Given the description of an element on the screen output the (x, y) to click on. 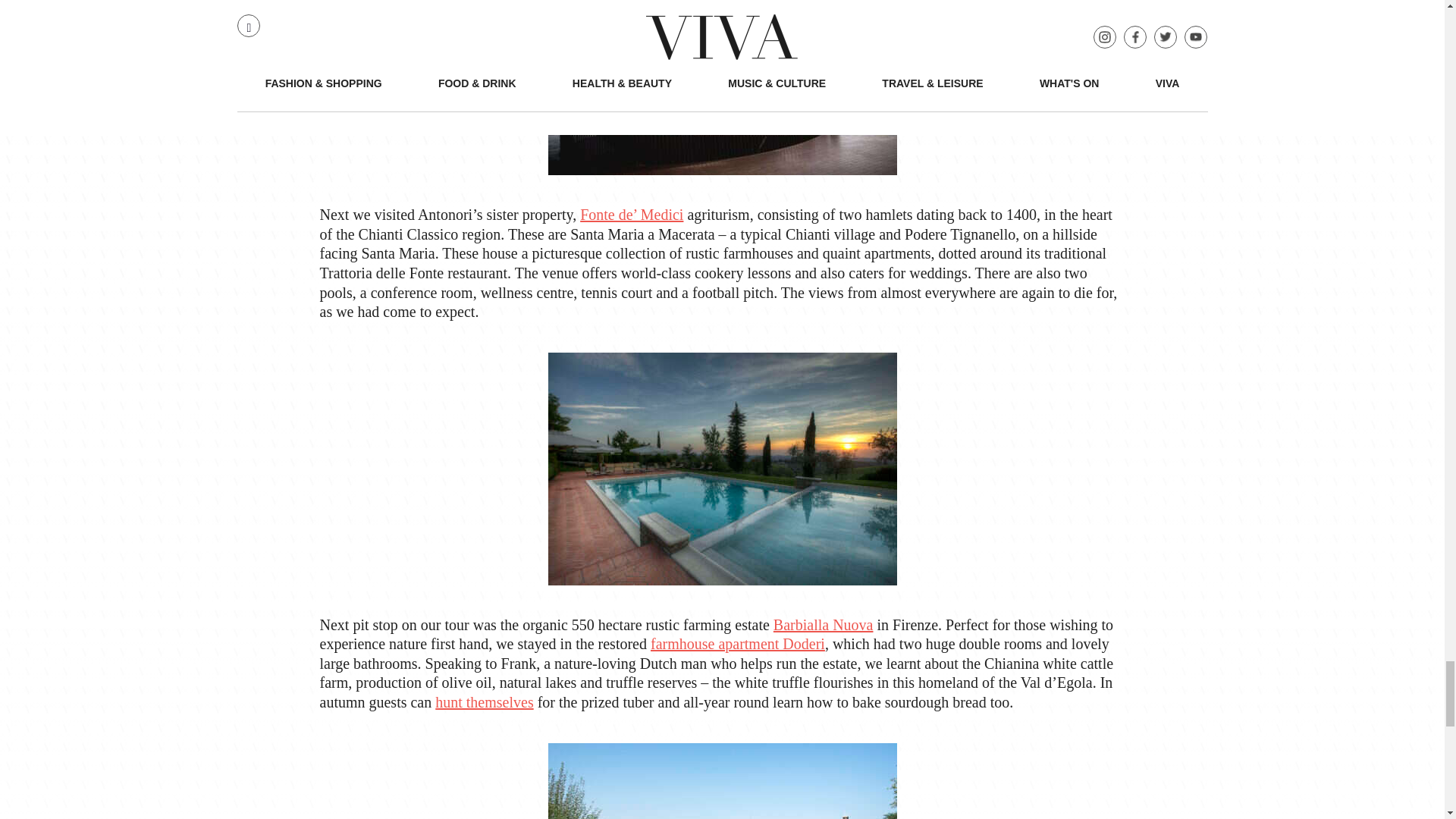
Barbialla Nuova (823, 624)
hunt themselves (483, 701)
farmhouse apartment Doderi (737, 643)
